Given the description of an element on the screen output the (x, y) to click on. 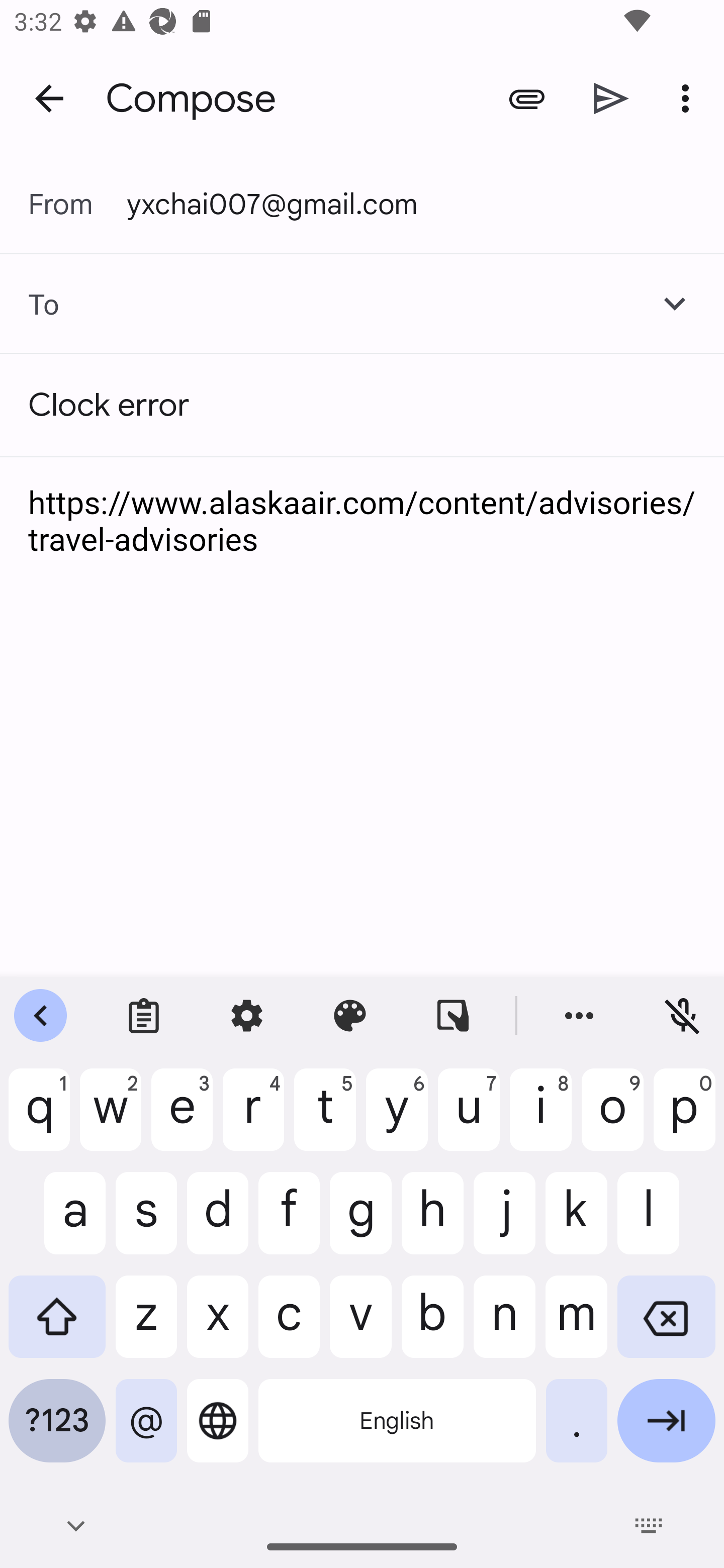
Navigate up (49, 97)
Attach file (526, 98)
Send (611, 98)
More options (688, 98)
From (77, 204)
Add Cc/Bcc (674, 303)
To (30, 303)
Clock error (361, 405)
